Given the description of an element on the screen output the (x, y) to click on. 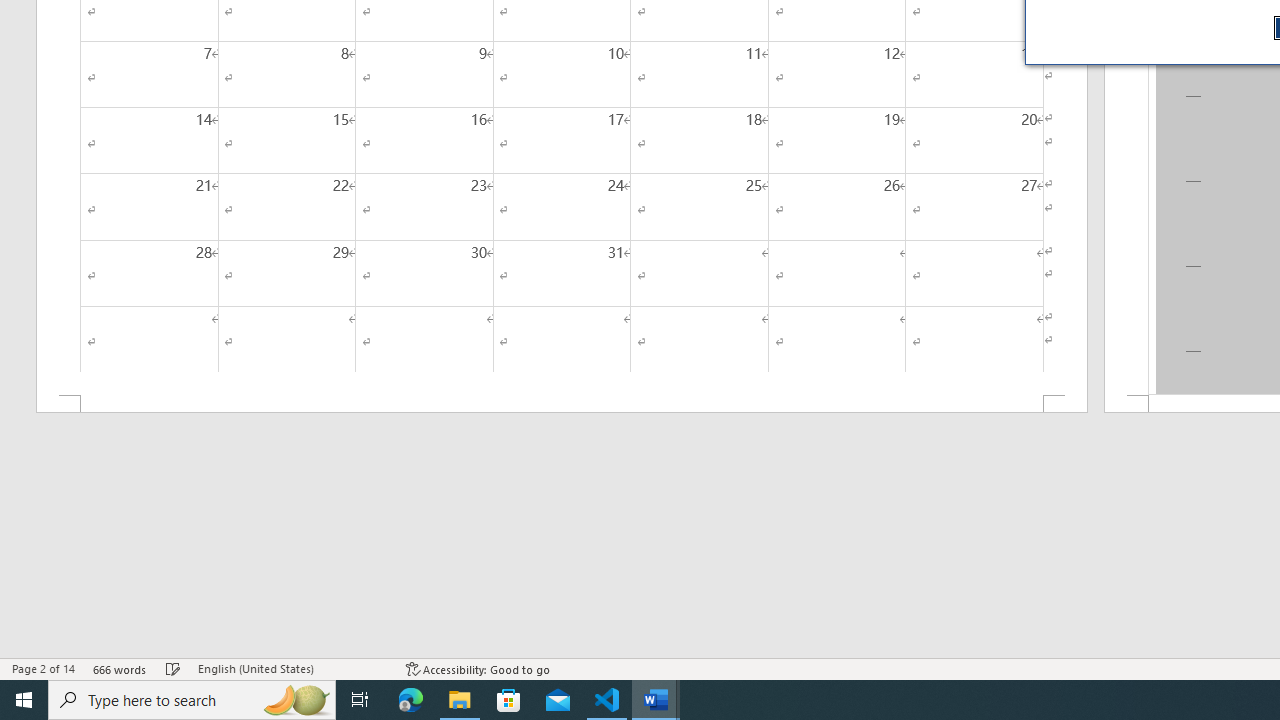
Microsoft Edge (411, 699)
Search highlights icon opens search home window (295, 699)
Language English (United States) (292, 668)
Page Number Page 2 of 14 (43, 668)
Type here to search (191, 699)
File Explorer - 1 running window (460, 699)
Spelling and Grammar Check Checking (173, 668)
Word Count 666 words (119, 668)
Footer -Section 1- (561, 404)
Visual Studio Code - 1 running window (607, 699)
Word - 2 running windows (656, 699)
Accessibility Checker Accessibility: Good to go (478, 668)
Start (24, 699)
